Given the description of an element on the screen output the (x, y) to click on. 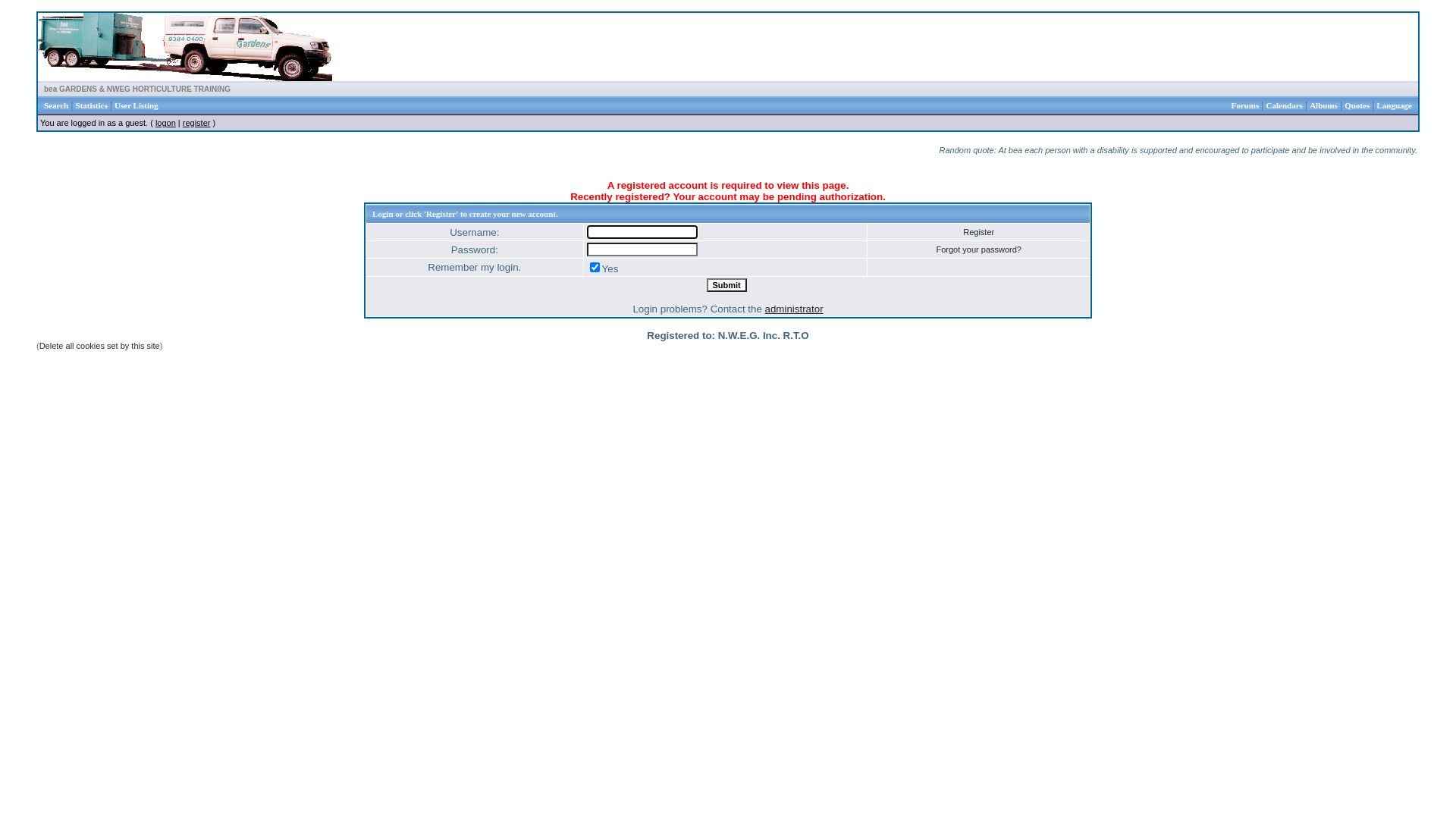
Forgot your password? Element type: text (978, 249)
Albums Element type: text (1323, 104)
bea GARDENS & NWEG HORTICULTURE TRAINING Element type: text (136, 88)
Calendars Element type: text (1284, 104)
logon Element type: text (165, 122)
Search Element type: text (55, 104)
Language Element type: text (1394, 104)
Statistics Element type: text (91, 104)
Register Element type: text (978, 231)
Submit Element type: text (726, 284)
Delete all cookies set by this site Element type: text (99, 345)
administrator Element type: text (794, 308)
Quotes Element type: text (1356, 104)
register Element type: text (196, 122)
User Listing Element type: text (136, 104)
Forums Element type: text (1245, 104)
